Given the description of an element on the screen output the (x, y) to click on. 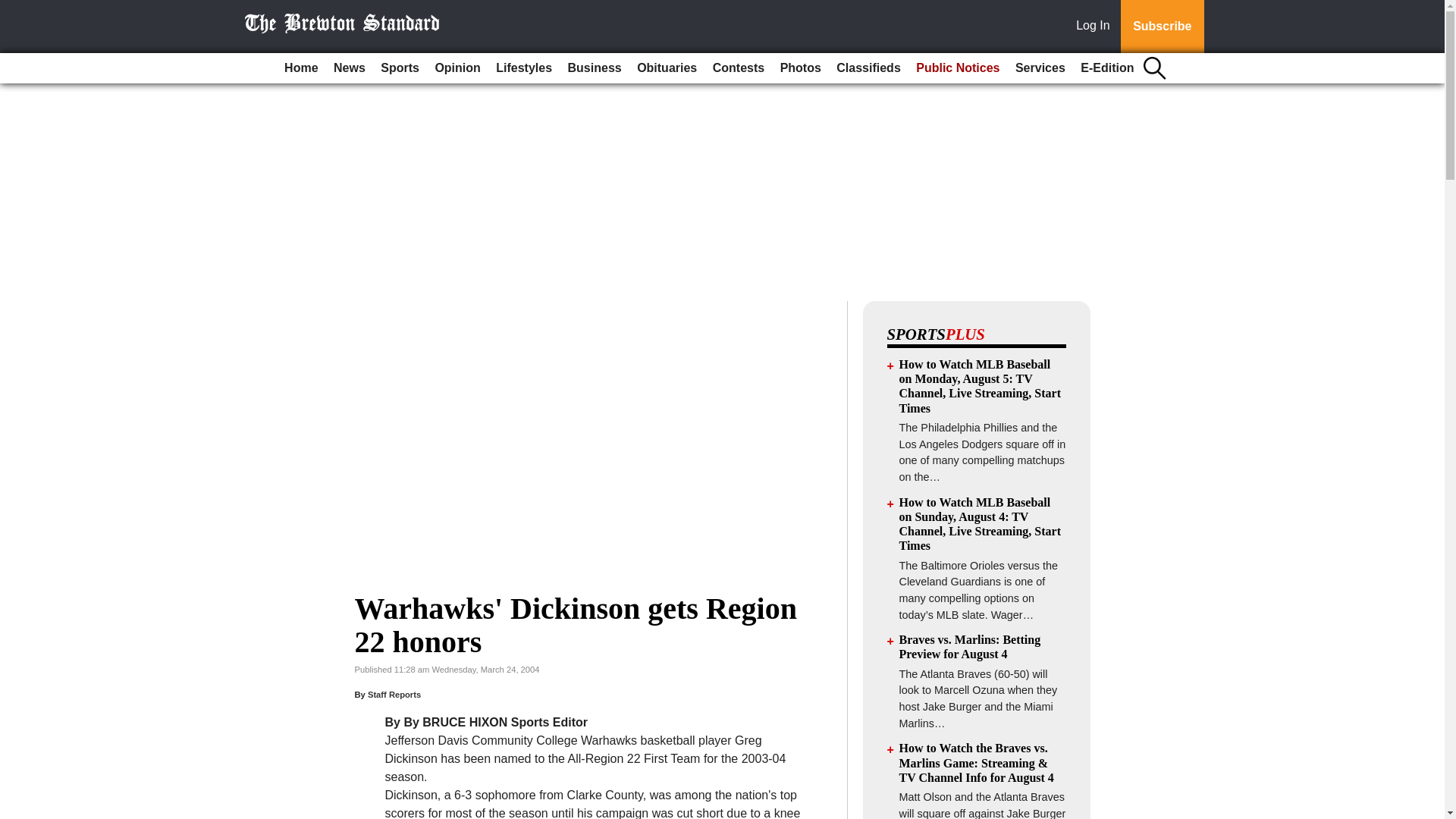
Contests (738, 68)
Services (1040, 68)
Sports (399, 68)
Log In (1095, 26)
Lifestyles (523, 68)
Home (300, 68)
Go (13, 9)
Subscribe (1162, 26)
Opinion (457, 68)
Obituaries (666, 68)
Public Notices (958, 68)
News (349, 68)
Photos (800, 68)
Classifieds (867, 68)
